Given the description of an element on the screen output the (x, y) to click on. 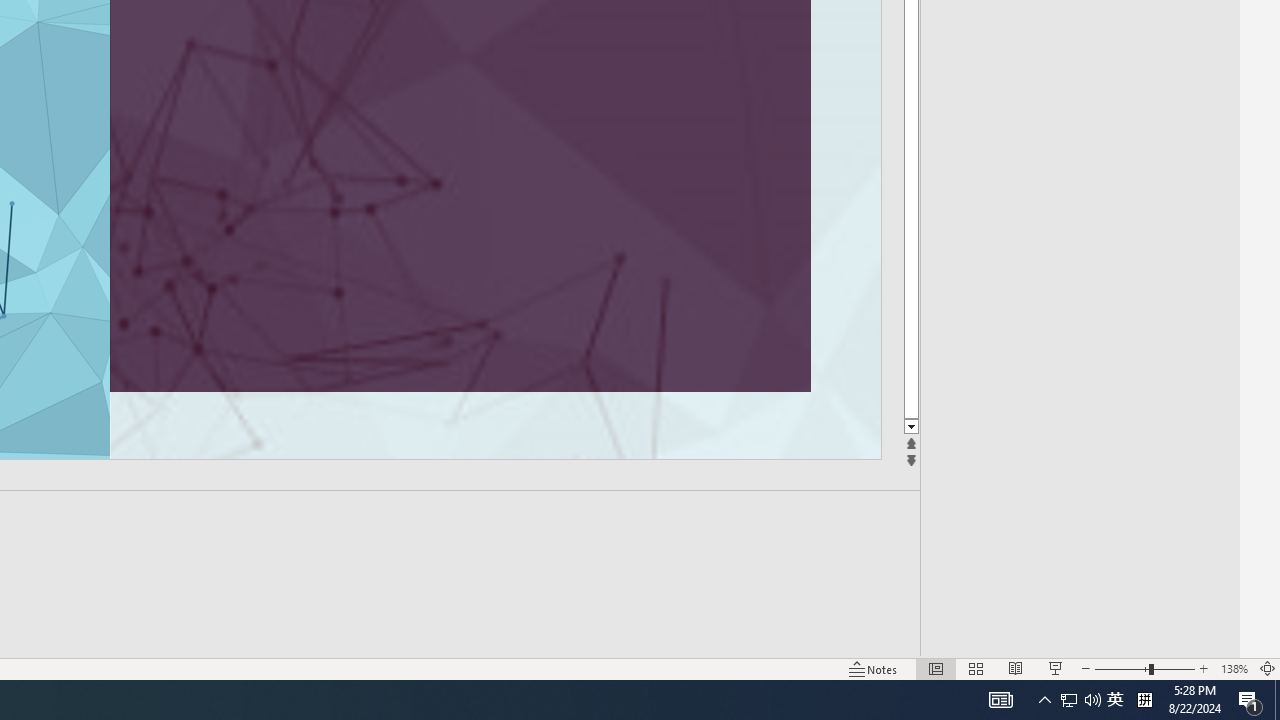
Notes  (874, 668)
Zoom 138% (1234, 668)
Normal (936, 668)
Zoom (1144, 668)
Zoom Out (1121, 668)
Slide Sorter (975, 668)
Zoom to Fit  (1267, 668)
Line down (911, 427)
Reading View (1015, 668)
Zoom In (1204, 668)
